Given the description of an element on the screen output the (x, y) to click on. 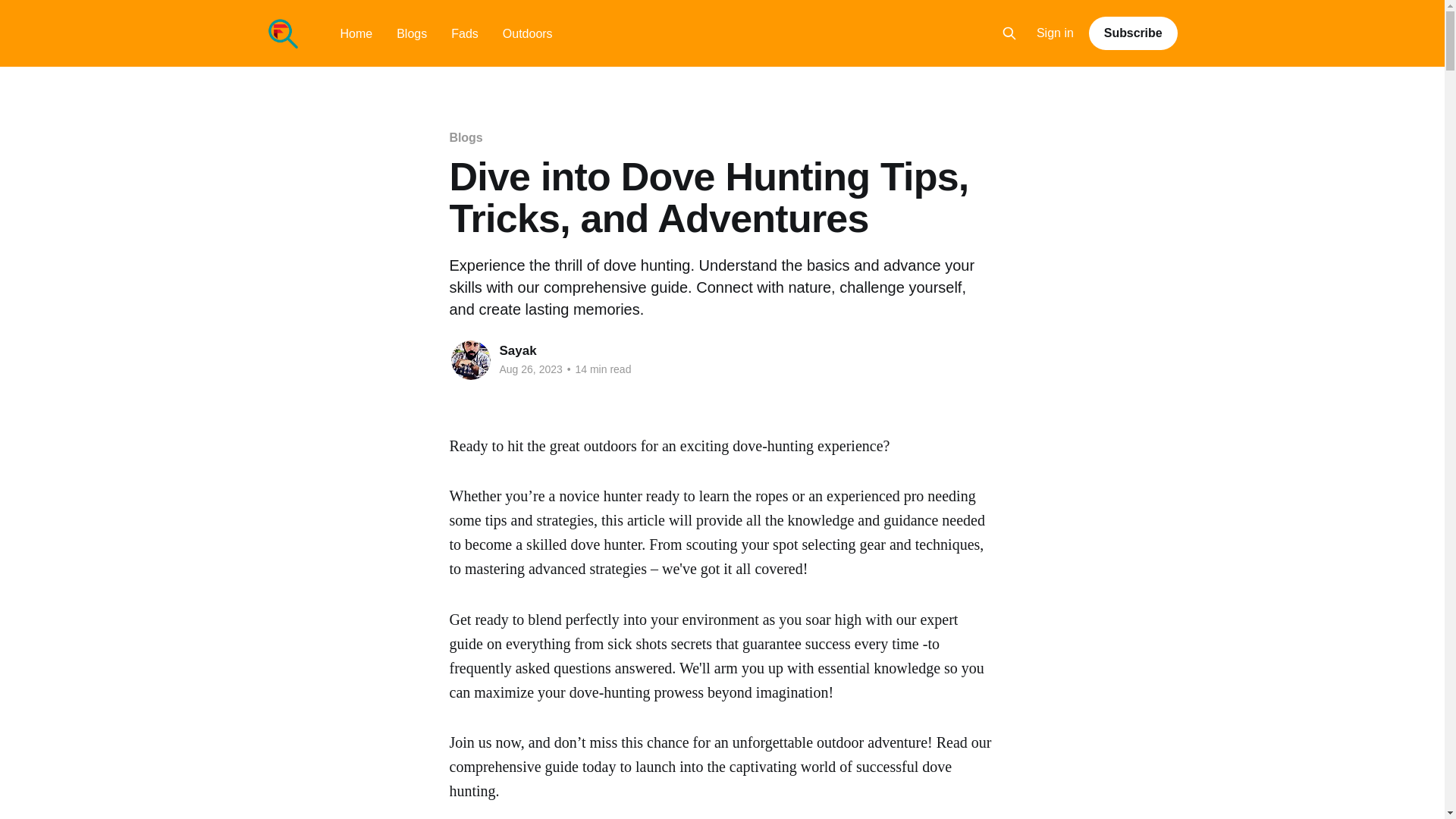
Fads (465, 33)
Outdoors (527, 33)
Subscribe (1133, 32)
Blogs (464, 137)
Home (355, 33)
Blogs (411, 33)
Sign in (1055, 33)
Sayak (517, 350)
